Given the description of an element on the screen output the (x, y) to click on. 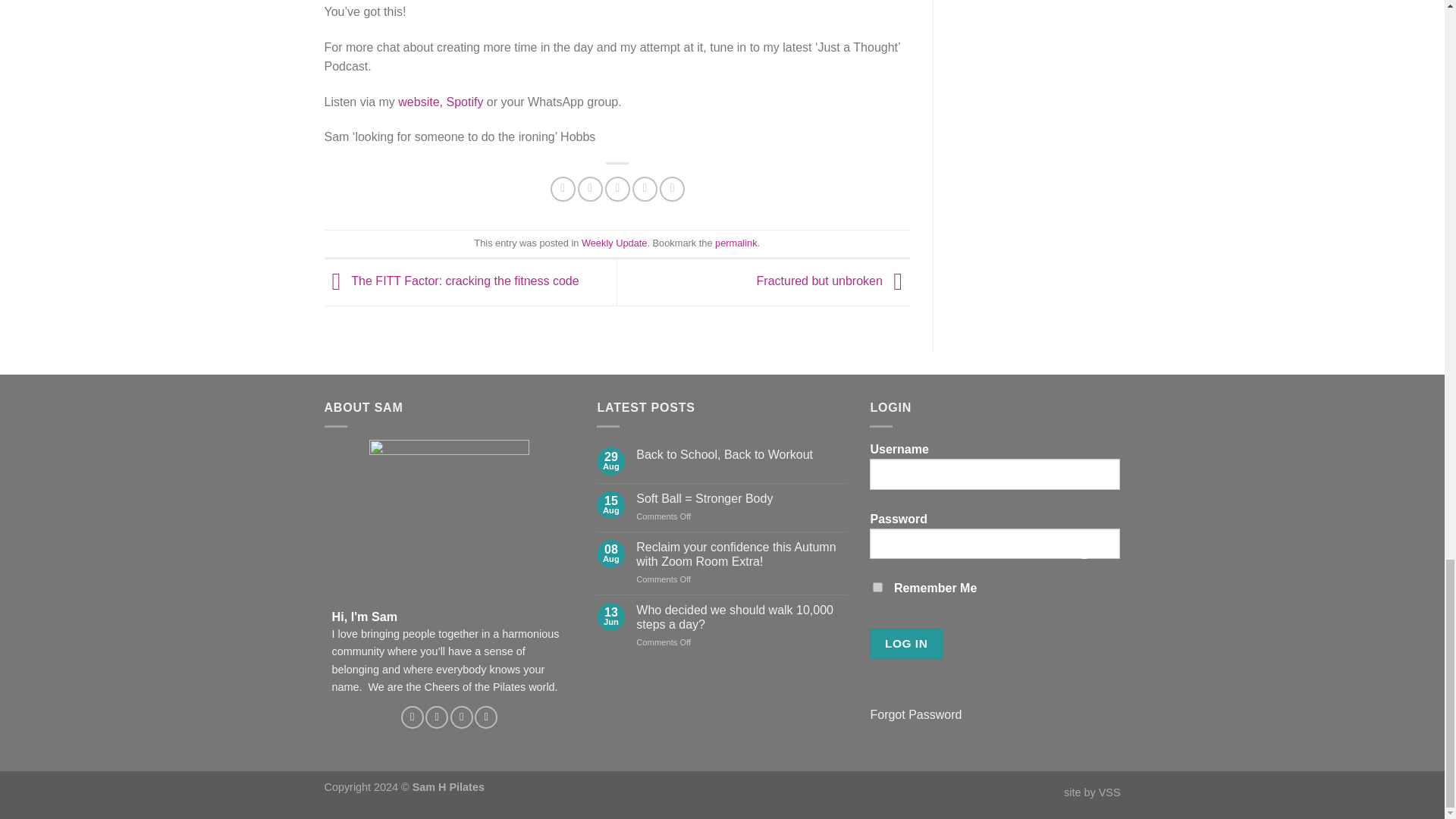
Email to a Friend (617, 188)
Log In (905, 643)
Share on Facebook (562, 188)
Permalink to Unlocking more hours in your day (735, 242)
Share on Twitter (590, 188)
forever (877, 587)
Pin on Pinterest (644, 188)
Share on LinkedIn (671, 188)
